Given the description of an element on the screen output the (x, y) to click on. 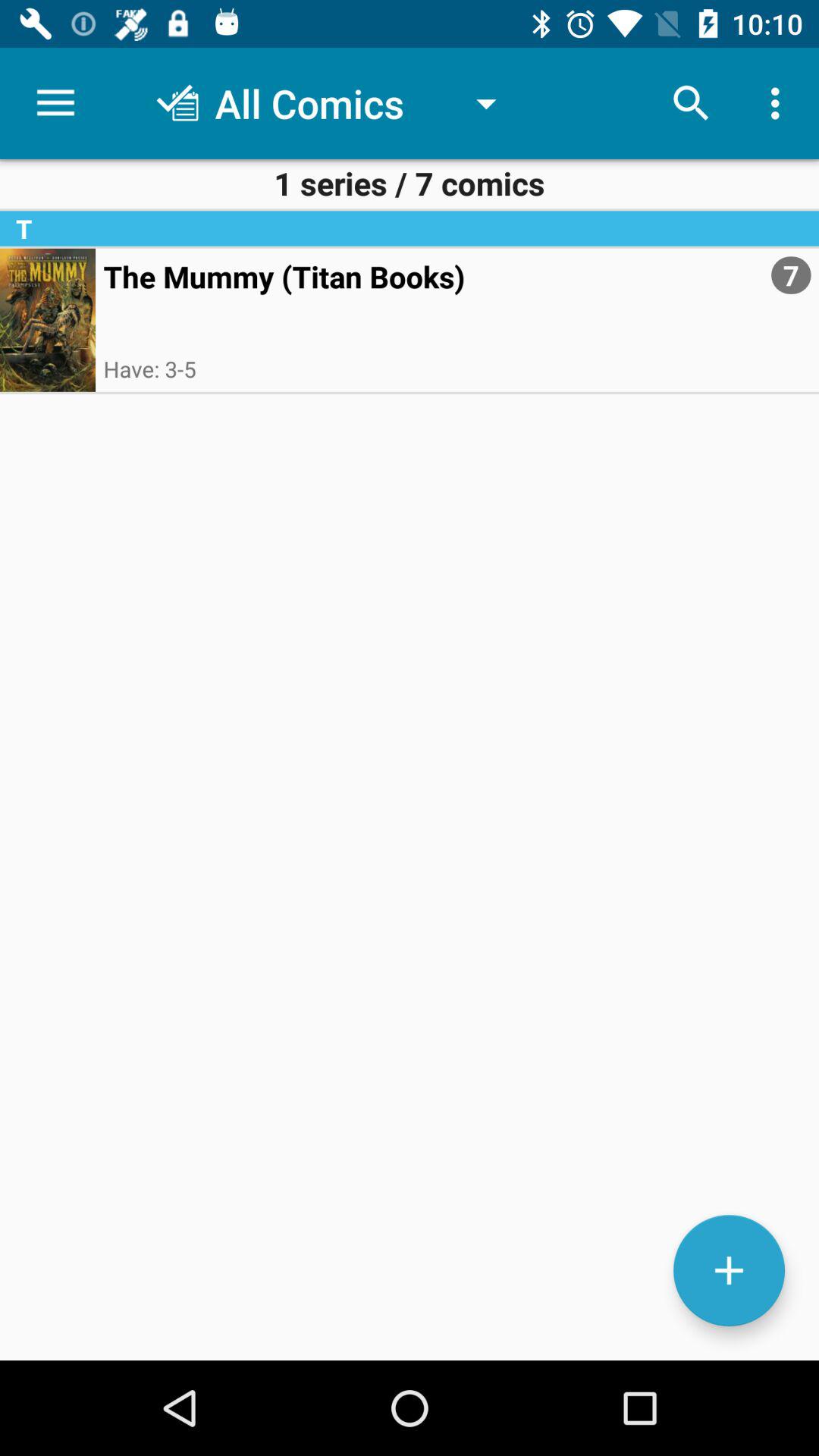
click on the bottom right corner icon (728, 1270)
click on the icon on the top right corner (779, 103)
select on the search icon (691, 103)
